Given the description of an element on the screen output the (x, y) to click on. 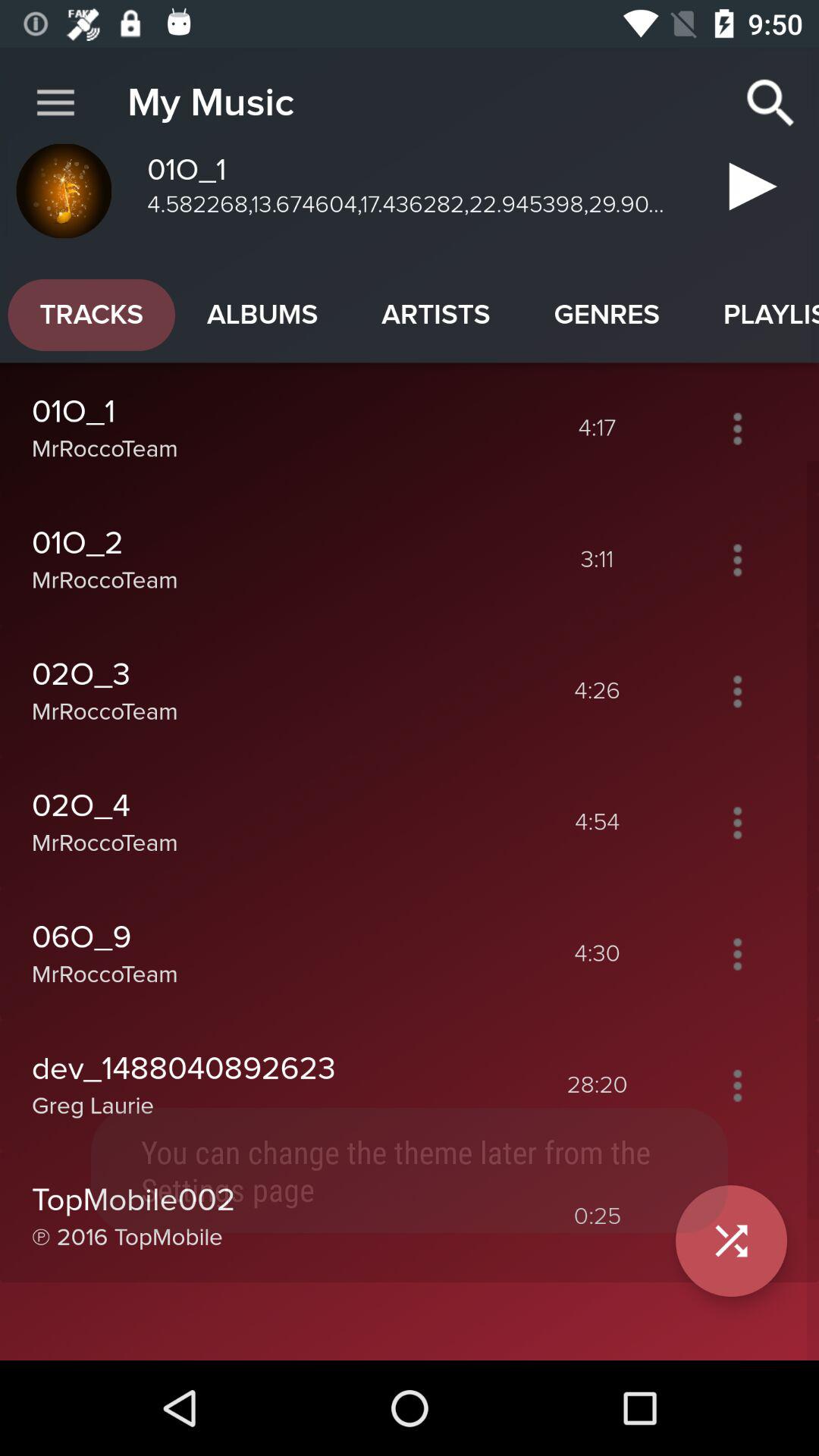
play music (747, 192)
